Given the description of an element on the screen output the (x, y) to click on. 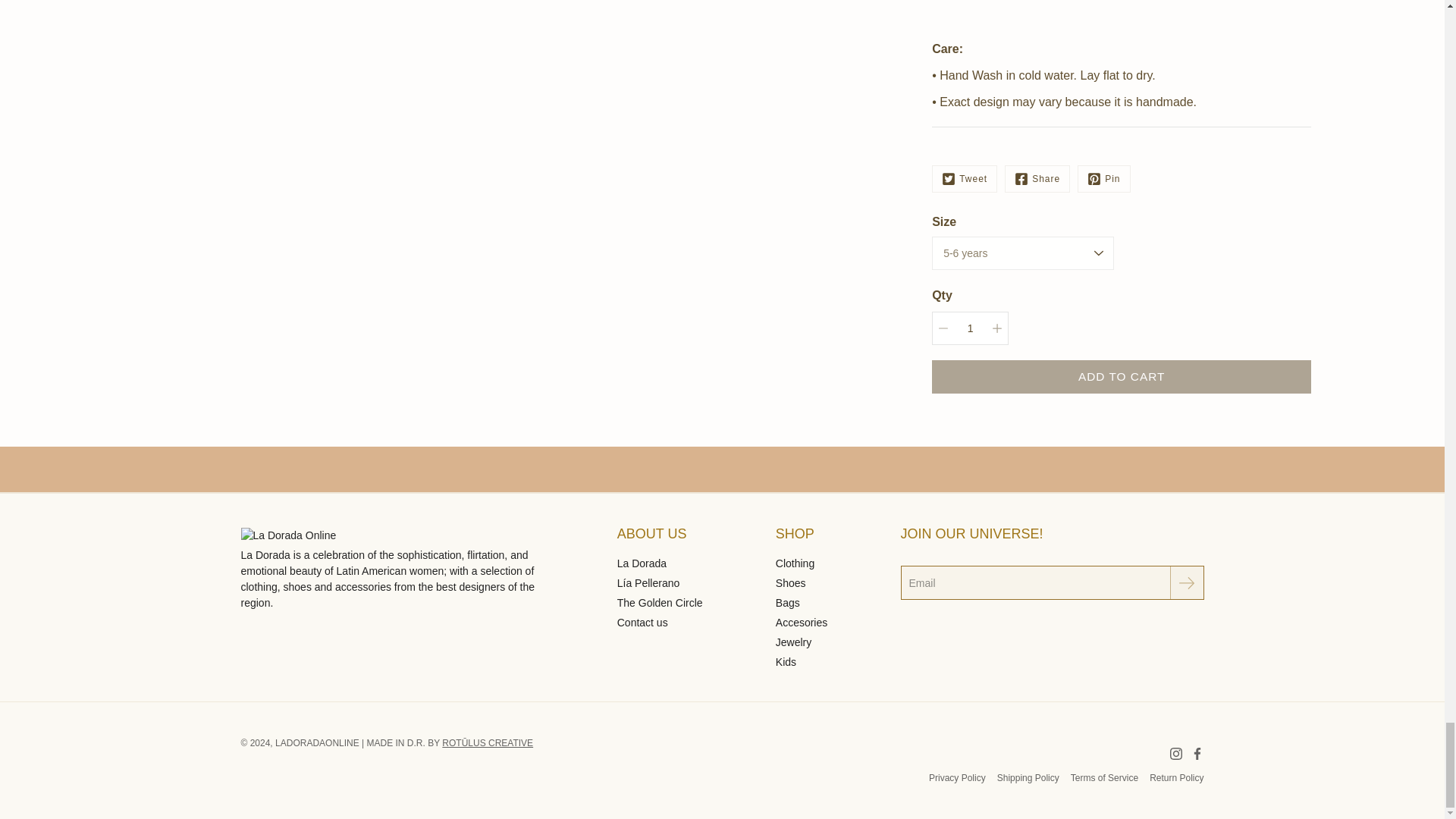
The Golden Circle (660, 603)
La Dorada (641, 563)
Contact us (642, 622)
Clothing (794, 563)
